Given the description of an element on the screen output the (x, y) to click on. 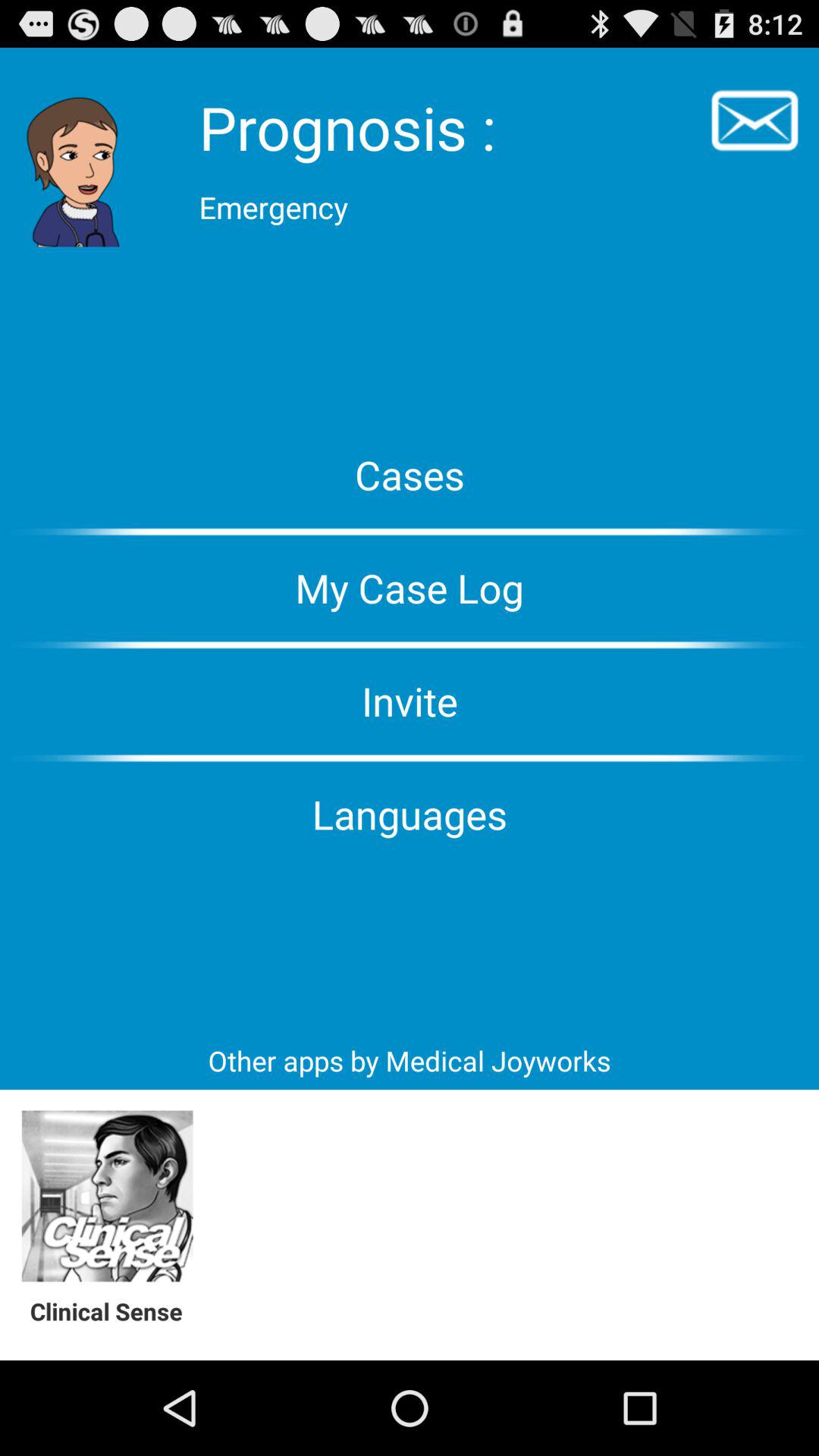
launch icon below other apps by item (107, 1196)
